Given the description of an element on the screen output the (x, y) to click on. 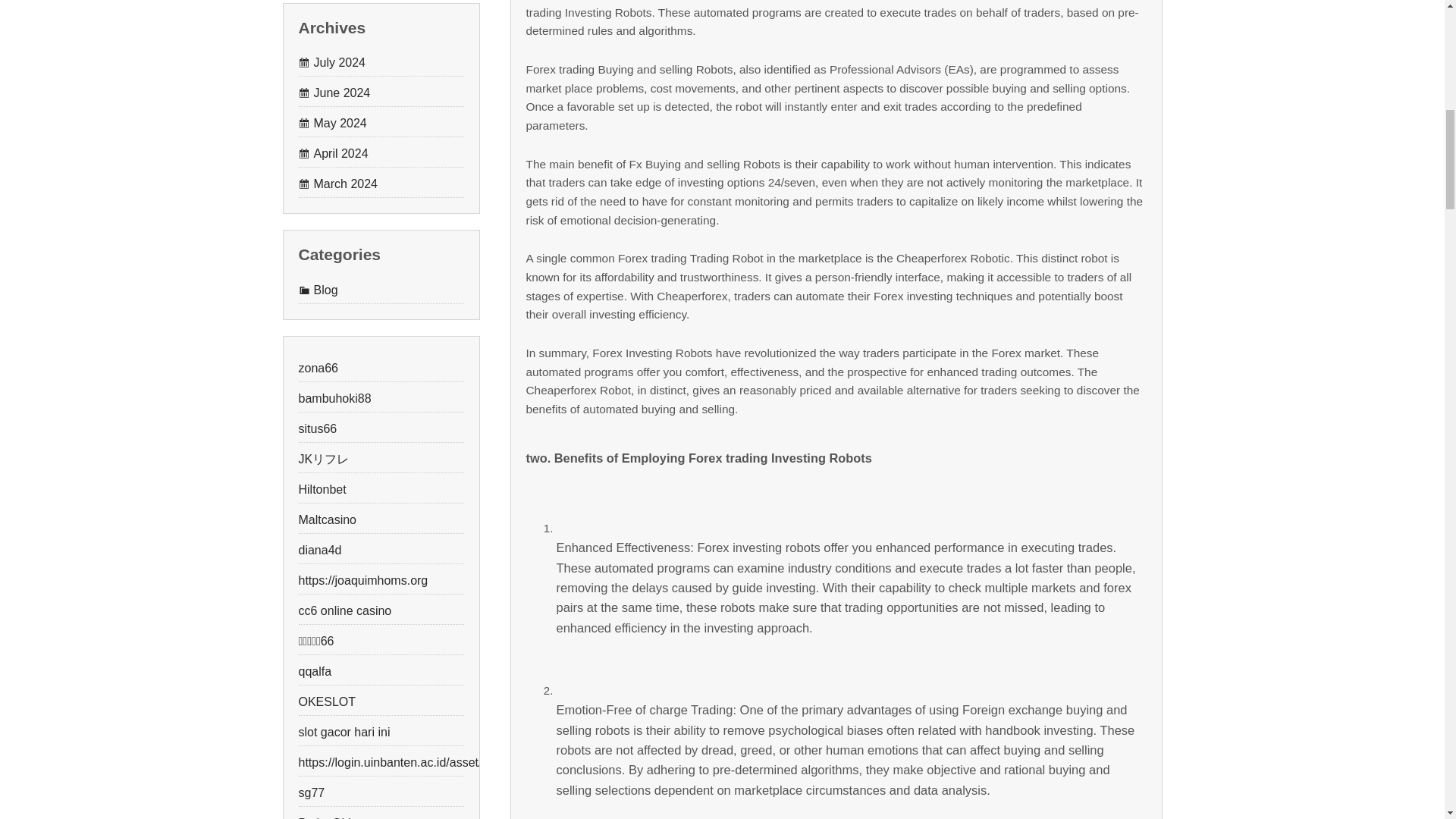
situs66 (317, 428)
diana4d (320, 549)
April 2024 (333, 153)
cc6 online casino (344, 610)
Maltcasino (327, 519)
bambuhoki88 (334, 398)
Hiltonbet (322, 489)
zona66 (318, 368)
July 2024 (332, 62)
May 2024 (332, 123)
June 2024 (334, 92)
Blog (317, 289)
March 2024 (338, 183)
qqalfa (314, 671)
